Given the description of an element on the screen output the (x, y) to click on. 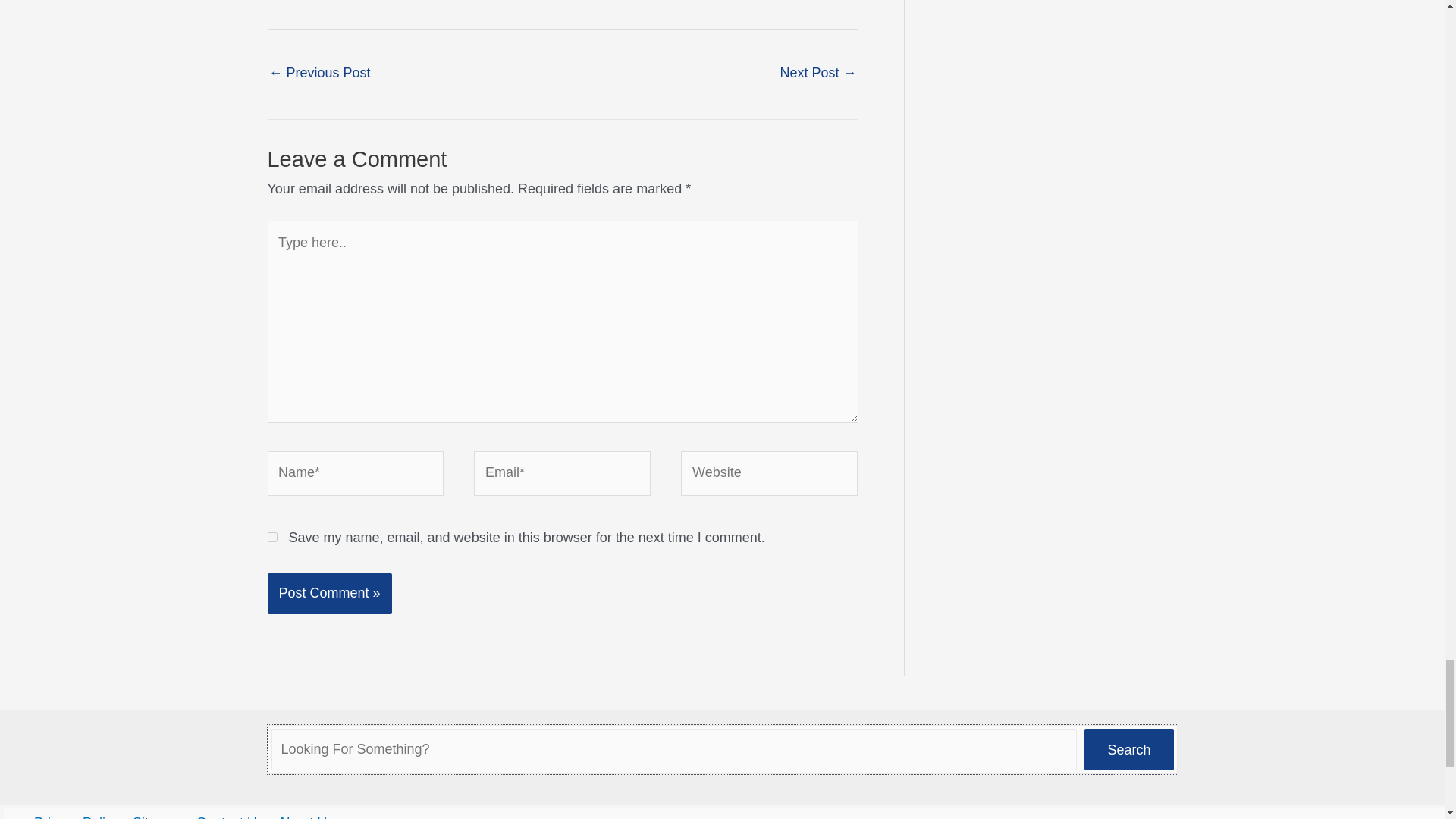
yes (271, 537)
